Given the description of an element on the screen output the (x, y) to click on. 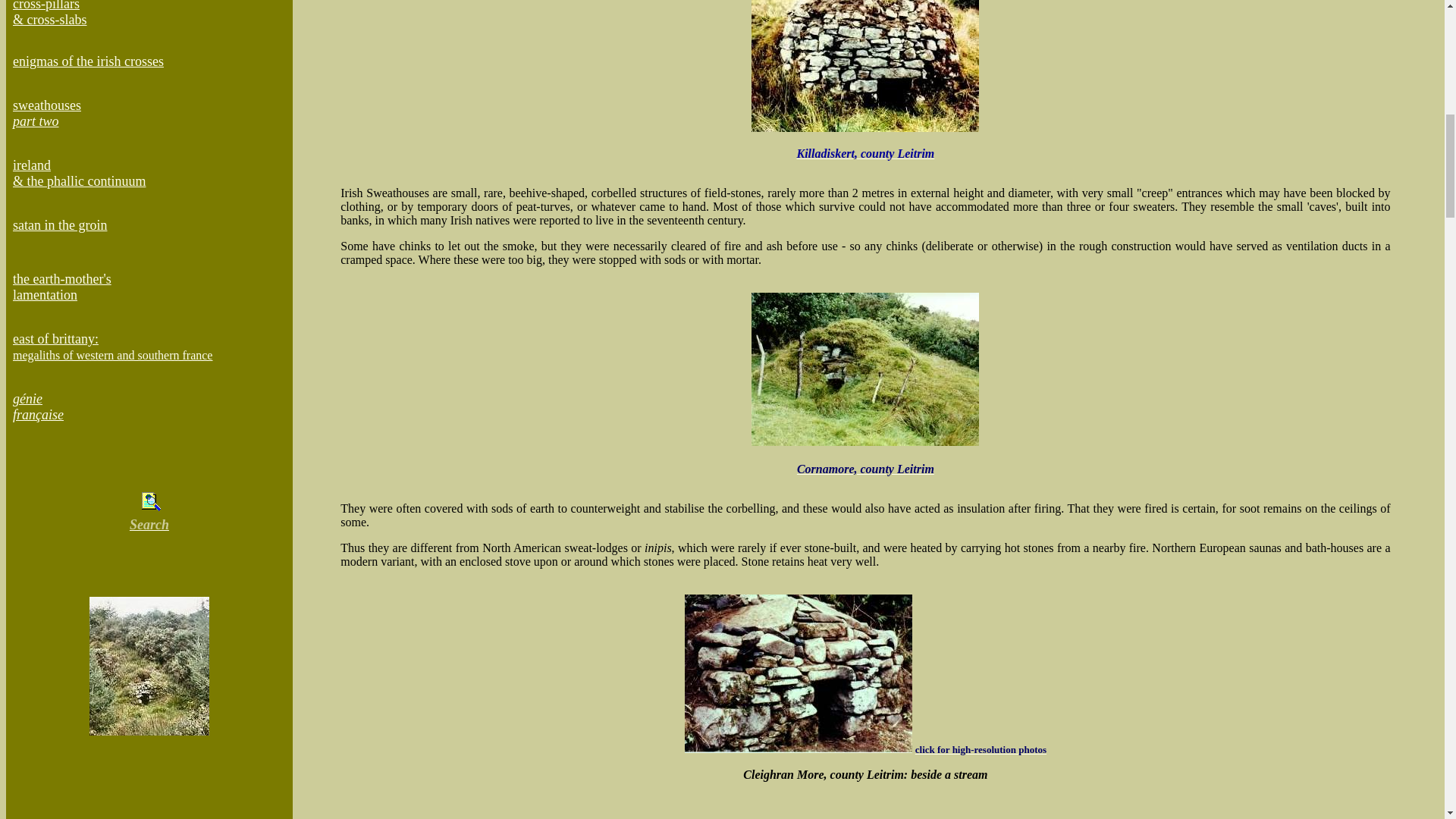
Killadiskert, county Leitrim (112, 354)
satan in the groin (47, 112)
click for high-resolution photos (62, 286)
Cornamore, county Leitrim (865, 153)
enigmas of the irish crosses (59, 224)
Search (980, 749)
